Given the description of an element on the screen output the (x, y) to click on. 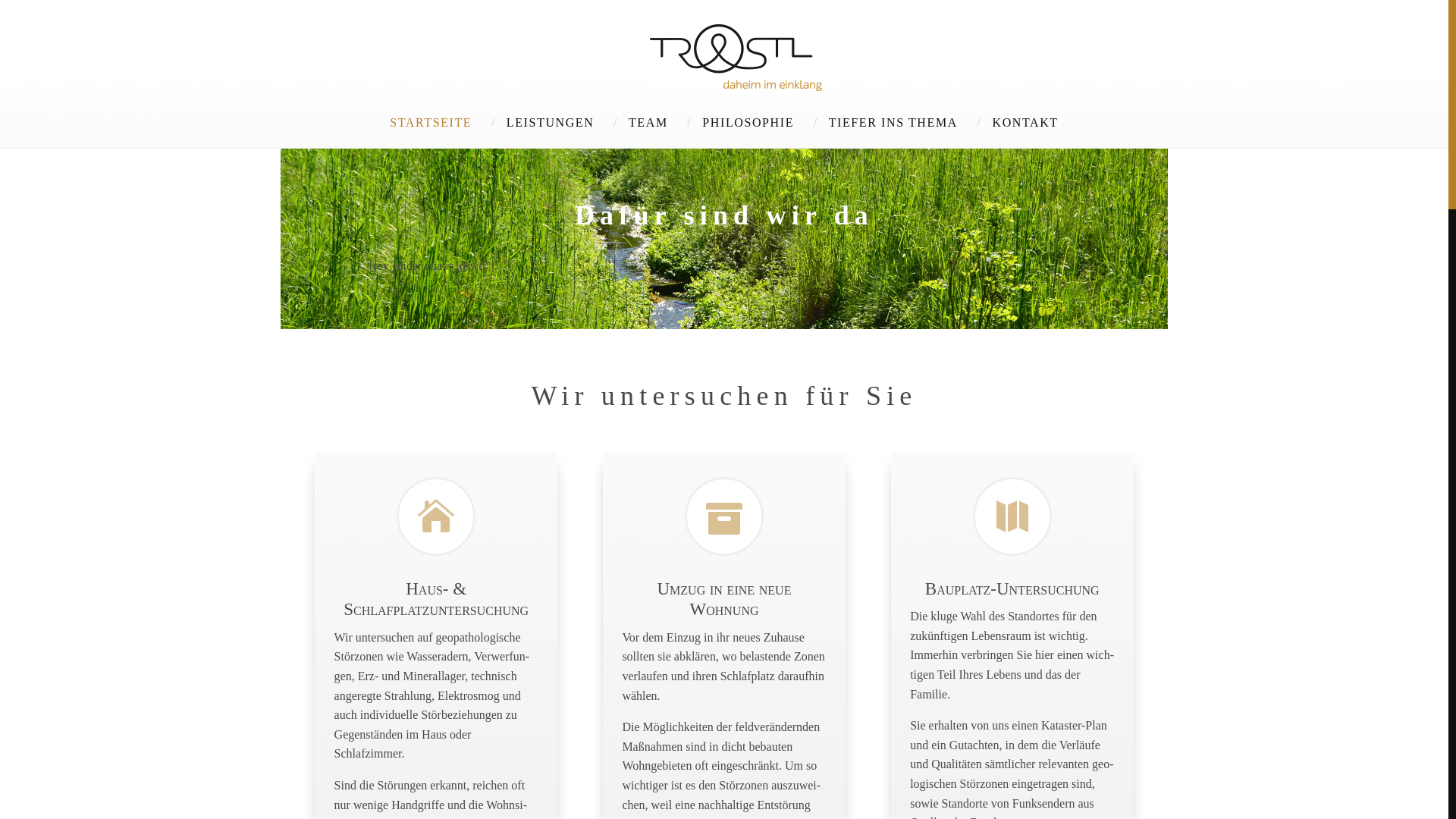
KONTAKT Element type: text (1024, 122)
TEAM Element type: text (648, 122)
STARTSEITE Element type: text (430, 122)
PHILOSOPHIE Element type: text (747, 122)
LEISTUNGEN Element type: text (550, 122)
TIEFER INS THEMA Element type: text (892, 122)
